Given the description of an element on the screen output the (x, y) to click on. 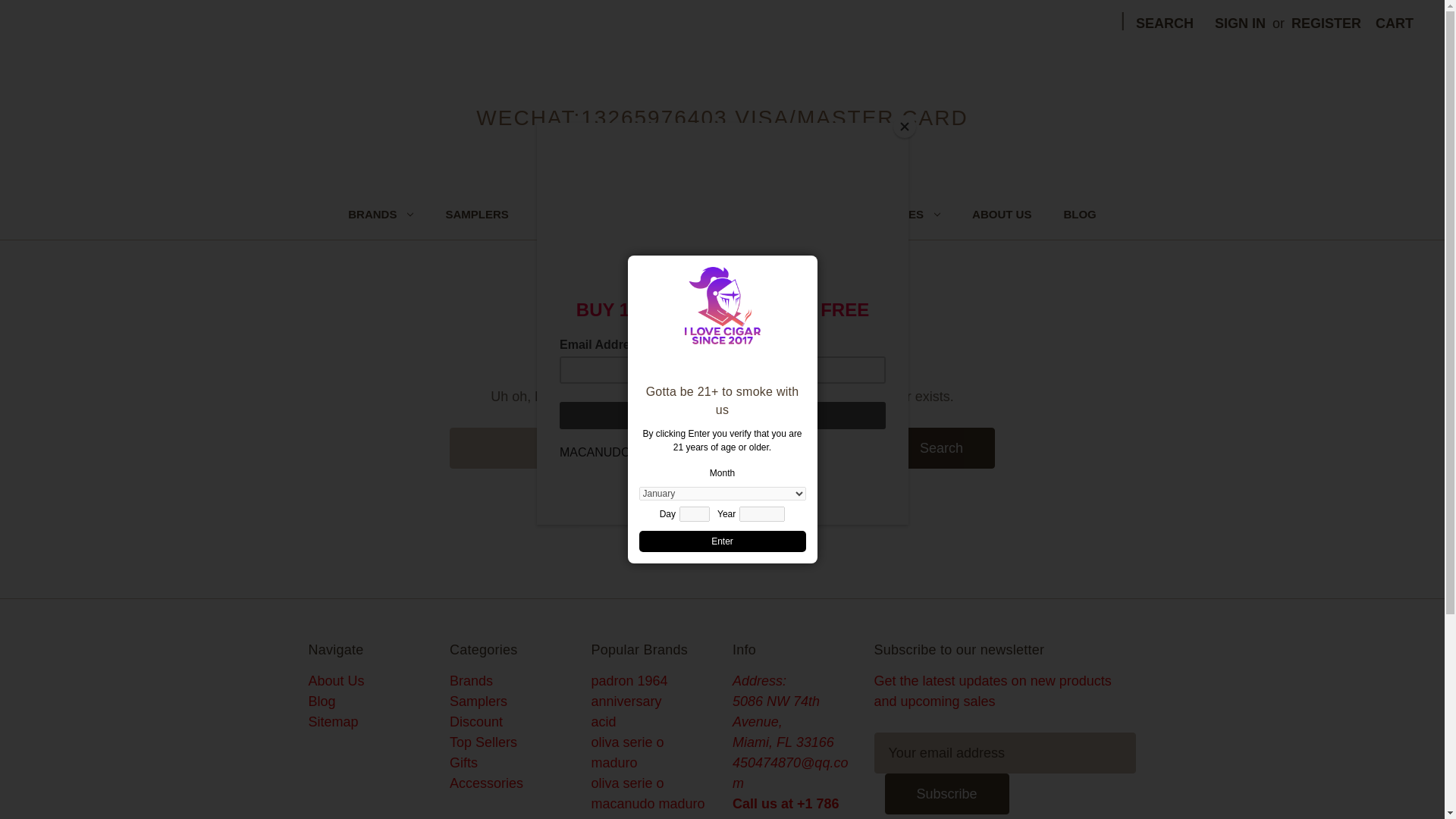
Search (941, 447)
REGISTER (1326, 23)
SEARCH (1164, 23)
CART (1394, 23)
BRANDS (380, 217)
SIGN IN (1240, 23)
Subscribe (946, 793)
